Given the description of an element on the screen output the (x, y) to click on. 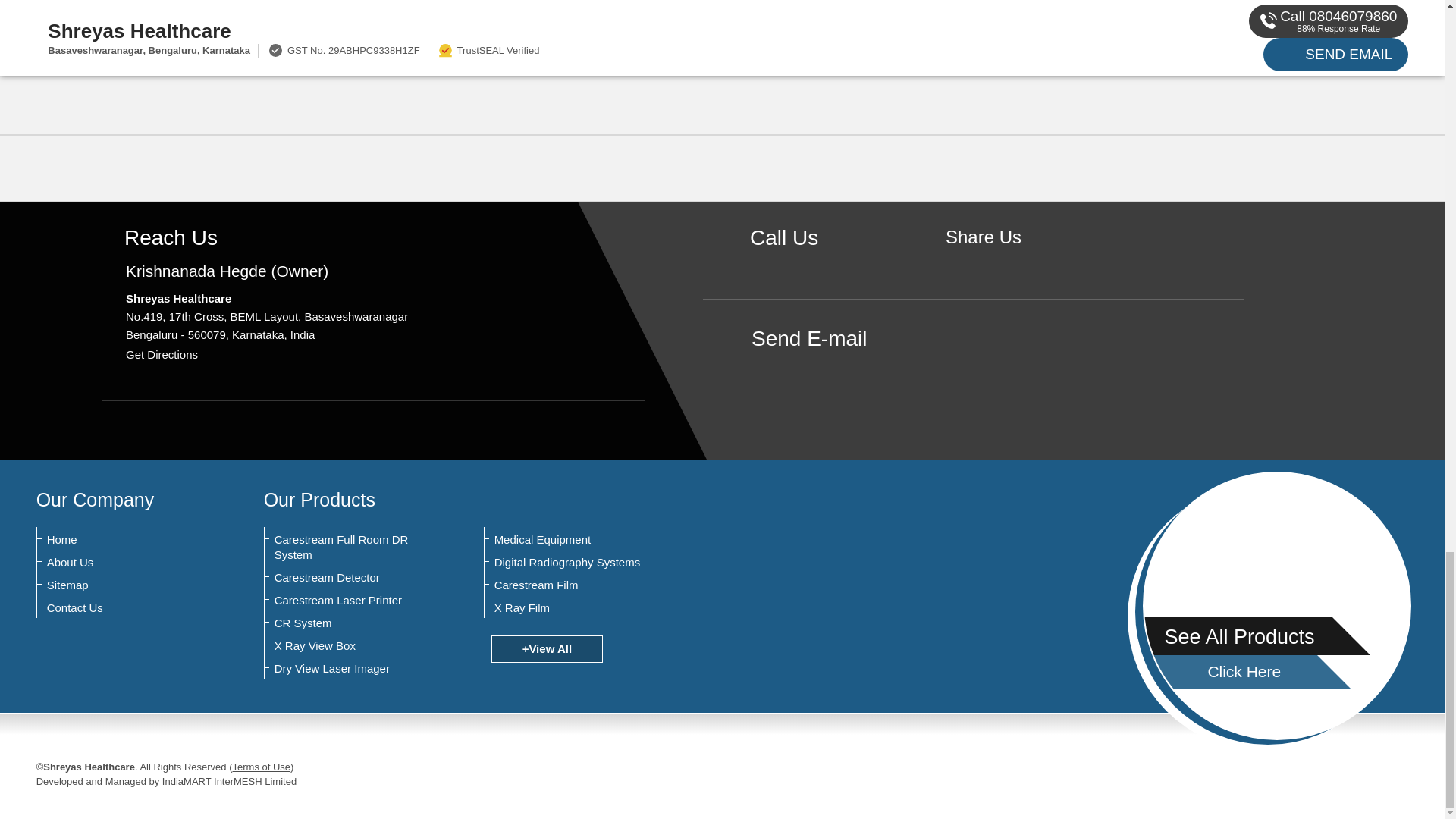
Twitter (1006, 262)
Get Directions (161, 354)
Facebook (983, 262)
Our Products (319, 499)
Sitemap (121, 585)
Contact Us (121, 607)
View All Products (722, 19)
Home (121, 539)
About Us (121, 562)
LinkedIn (1029, 262)
